Given the description of an element on the screen output the (x, y) to click on. 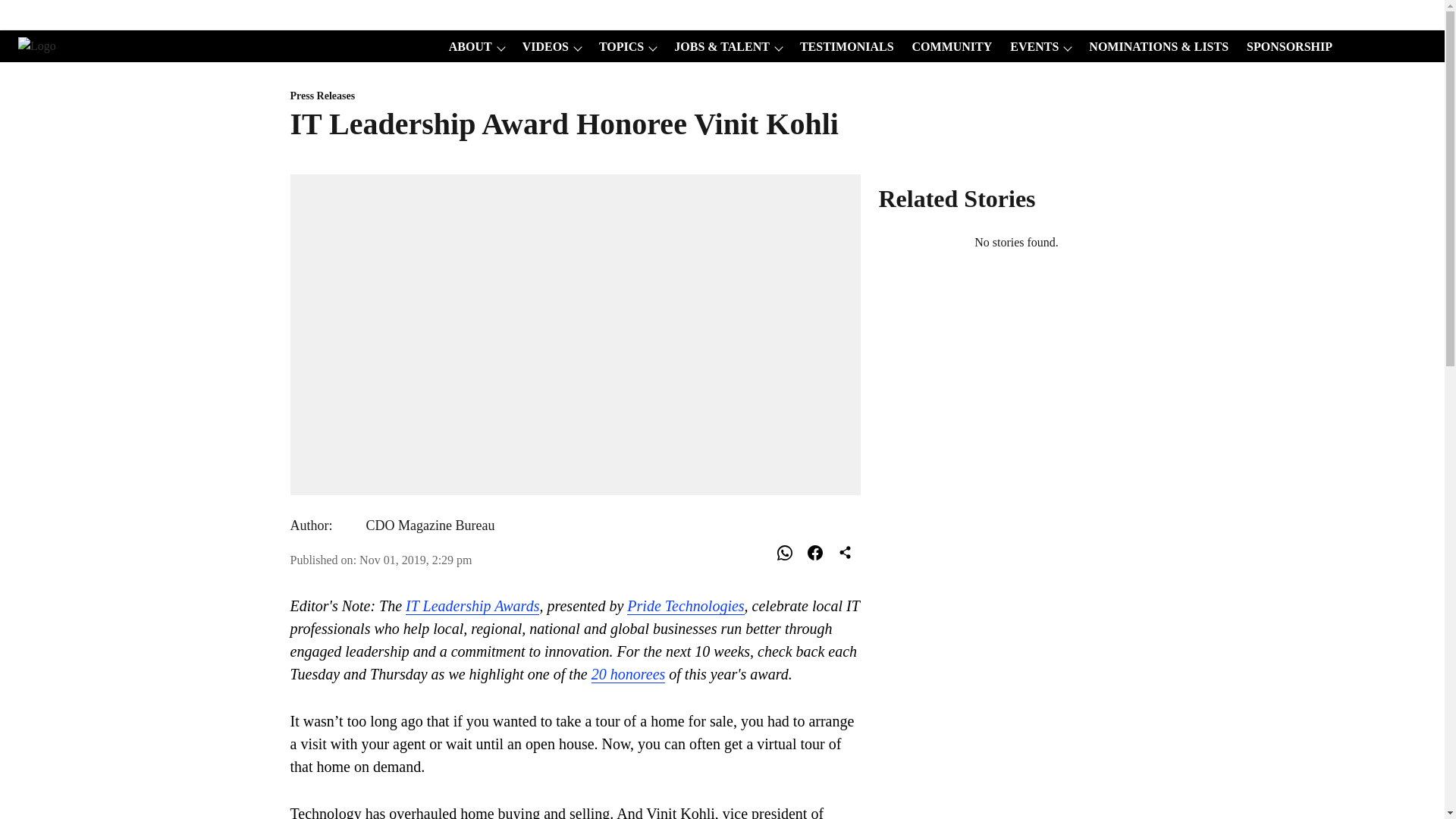
2019-11-01 14:29 (415, 559)
TESTIMONIALS (841, 46)
SPONSORSHIP (1284, 46)
IT Leadership Awards (472, 606)
20 honorees (628, 674)
Pride Technologies (685, 606)
COMMUNITY (947, 46)
Press Releases (574, 96)
CDO Magazine Bureau (430, 525)
